Given the description of an element on the screen output the (x, y) to click on. 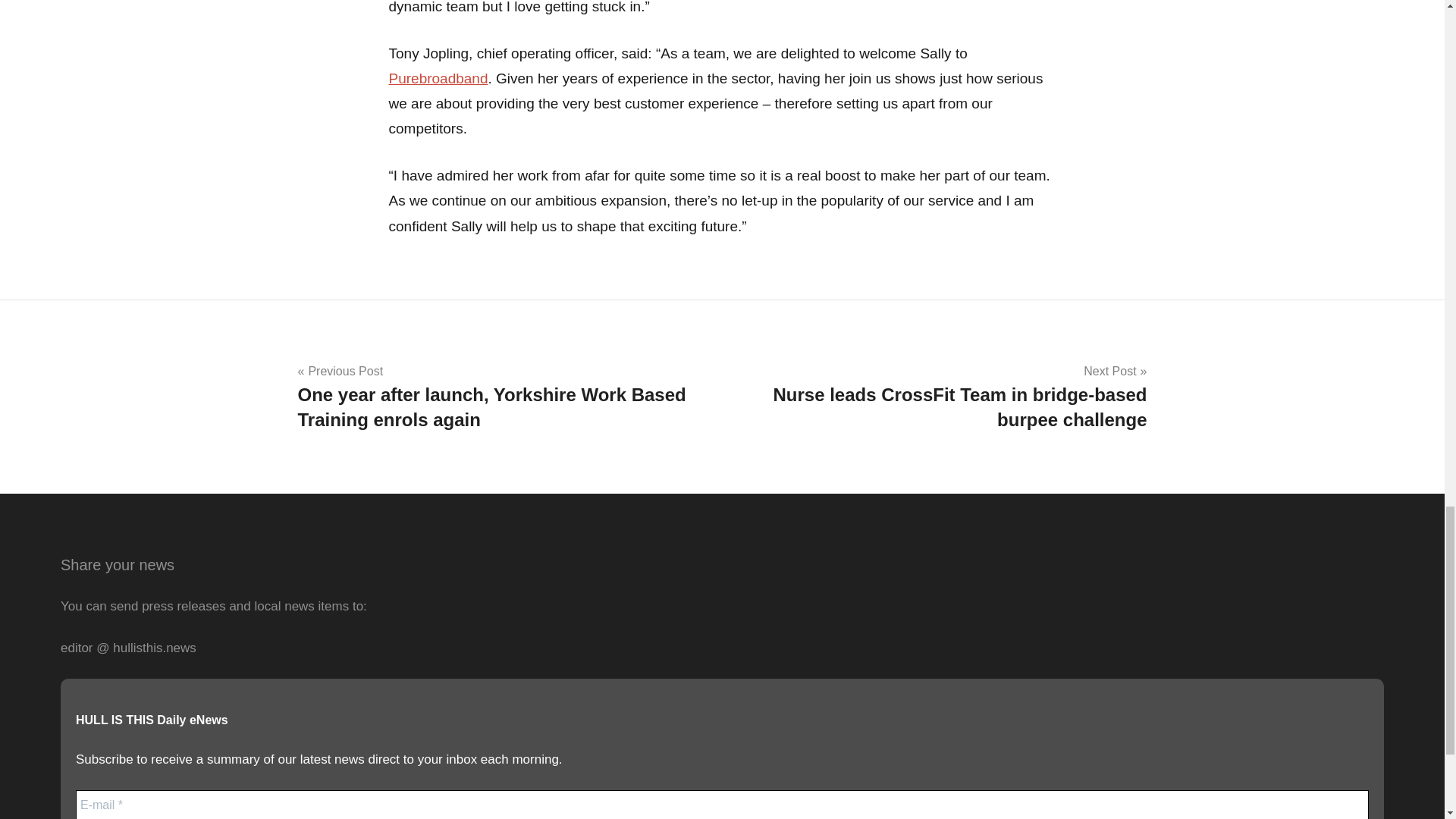
Purebroadband (437, 78)
E-mail (721, 804)
